Given the description of an element on the screen output the (x, y) to click on. 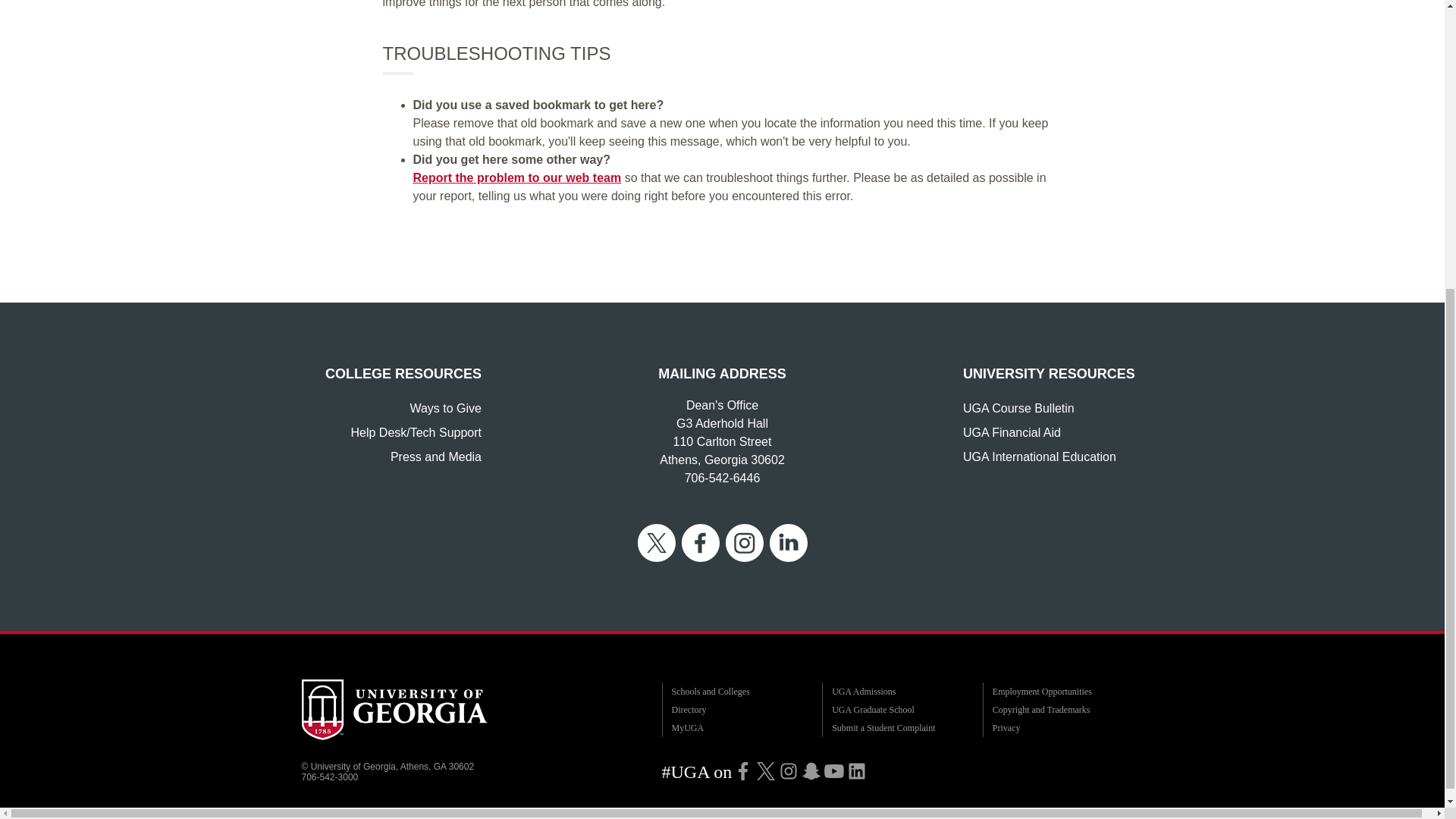
LinkedIn (856, 770)
Snapchat (810, 770)
YouTube (833, 770)
Twitter (765, 770)
Instagram (788, 770)
Facebook (743, 770)
